Given the description of an element on the screen output the (x, y) to click on. 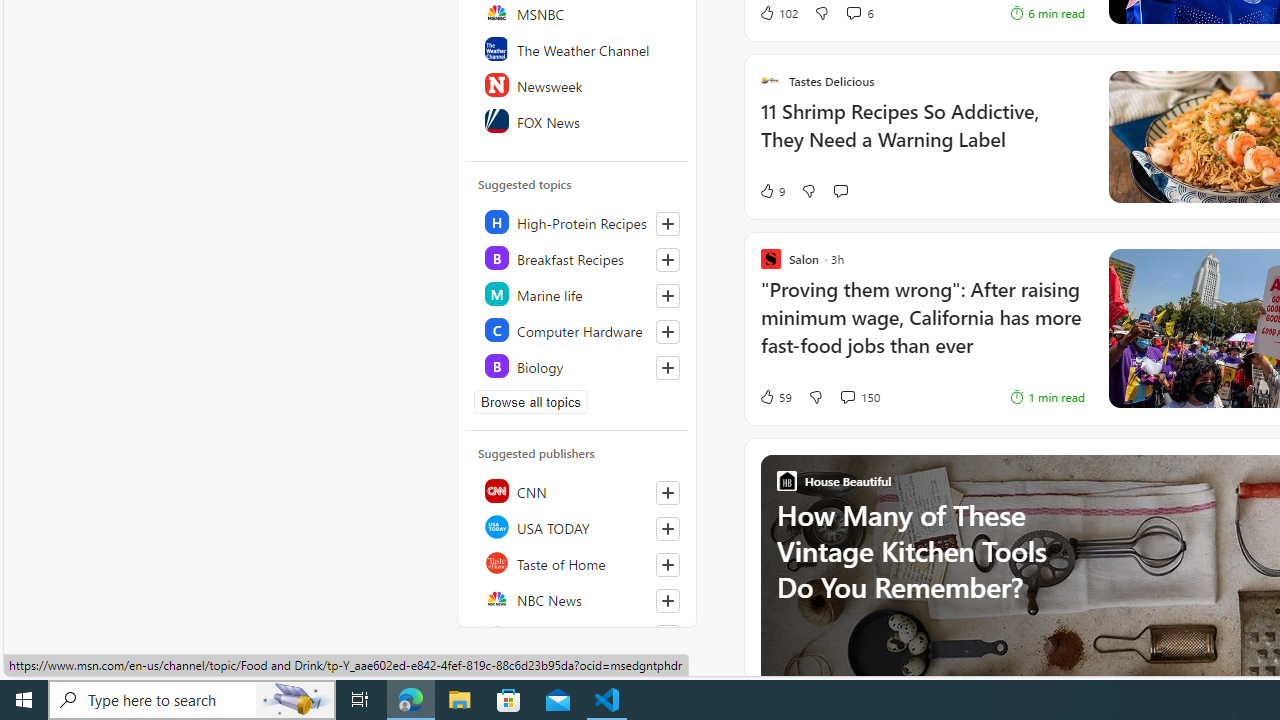
102 Like (778, 12)
Browse all topics (530, 401)
11 Shrimp Recipes So Addictive, They Need a Warning Label (922, 135)
Taste of Home (578, 562)
View comments 6 Comment (852, 12)
9 Like (771, 191)
59 Like (775, 396)
Reuters (578, 634)
View comments 150 Comment (859, 396)
